Given the description of an element on the screen output the (x, y) to click on. 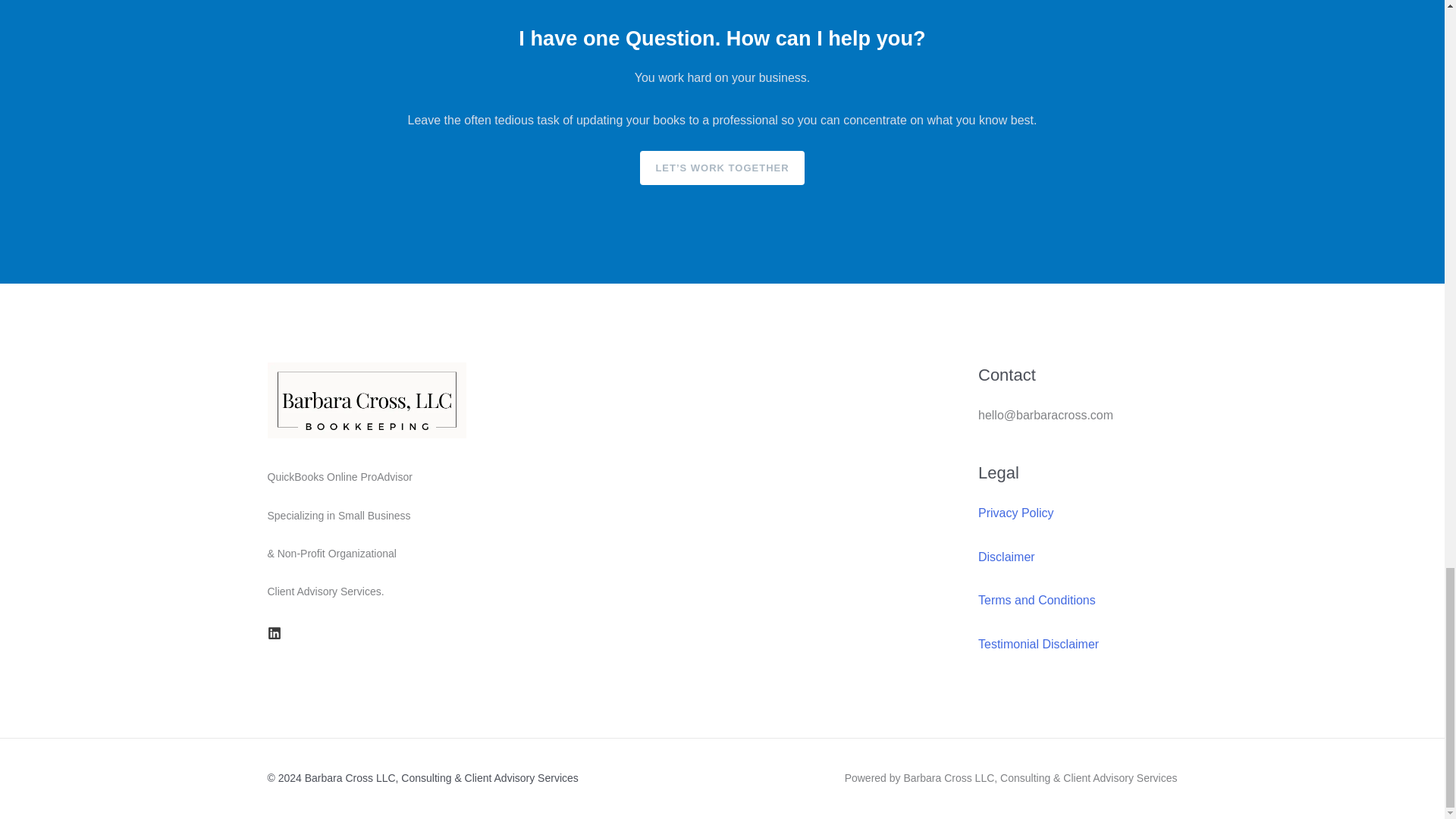
Testimonial Disclaimer (1038, 644)
Privacy Policy (1016, 512)
Disclaimer (1006, 556)
Terms and Conditions (1037, 599)
